Given the description of an element on the screen output the (x, y) to click on. 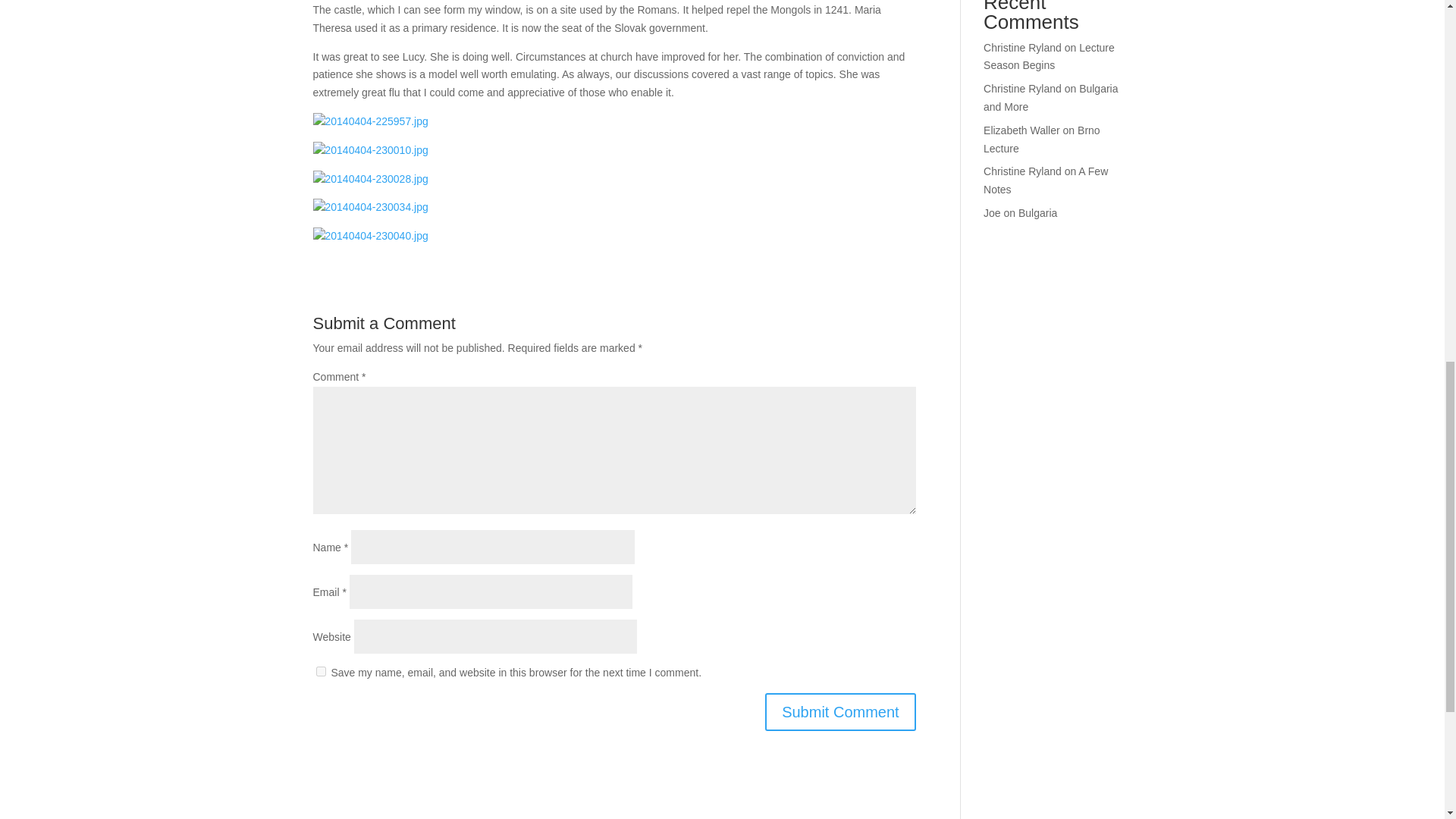
Brno Lecture (1042, 139)
Submit Comment (840, 711)
Submit Comment (840, 711)
Lecture Season Begins (1049, 56)
yes (319, 671)
Bulgaria (1037, 213)
A Few Notes (1046, 180)
Bulgaria and More (1051, 97)
